Given the description of an element on the screen output the (x, y) to click on. 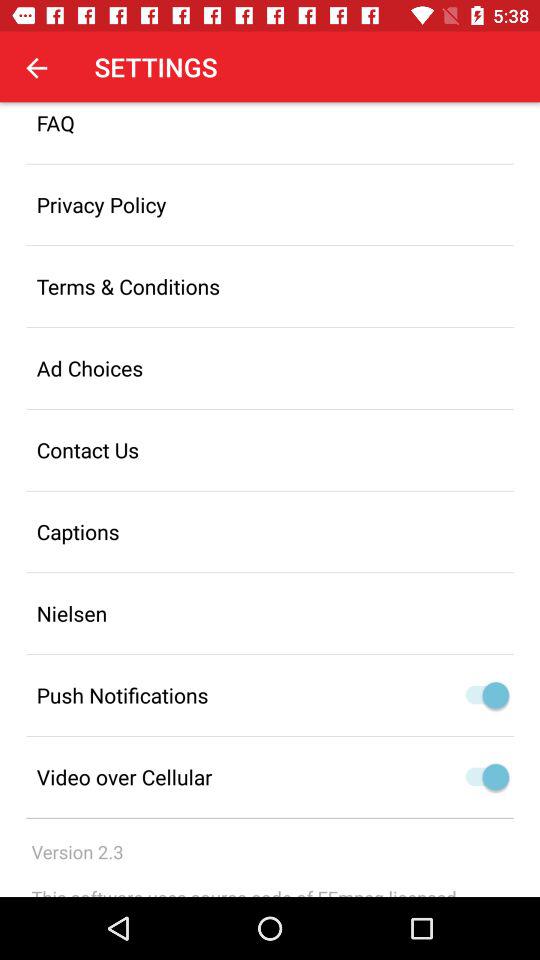
swipe until privacy policy item (270, 204)
